Given the description of an element on the screen output the (x, y) to click on. 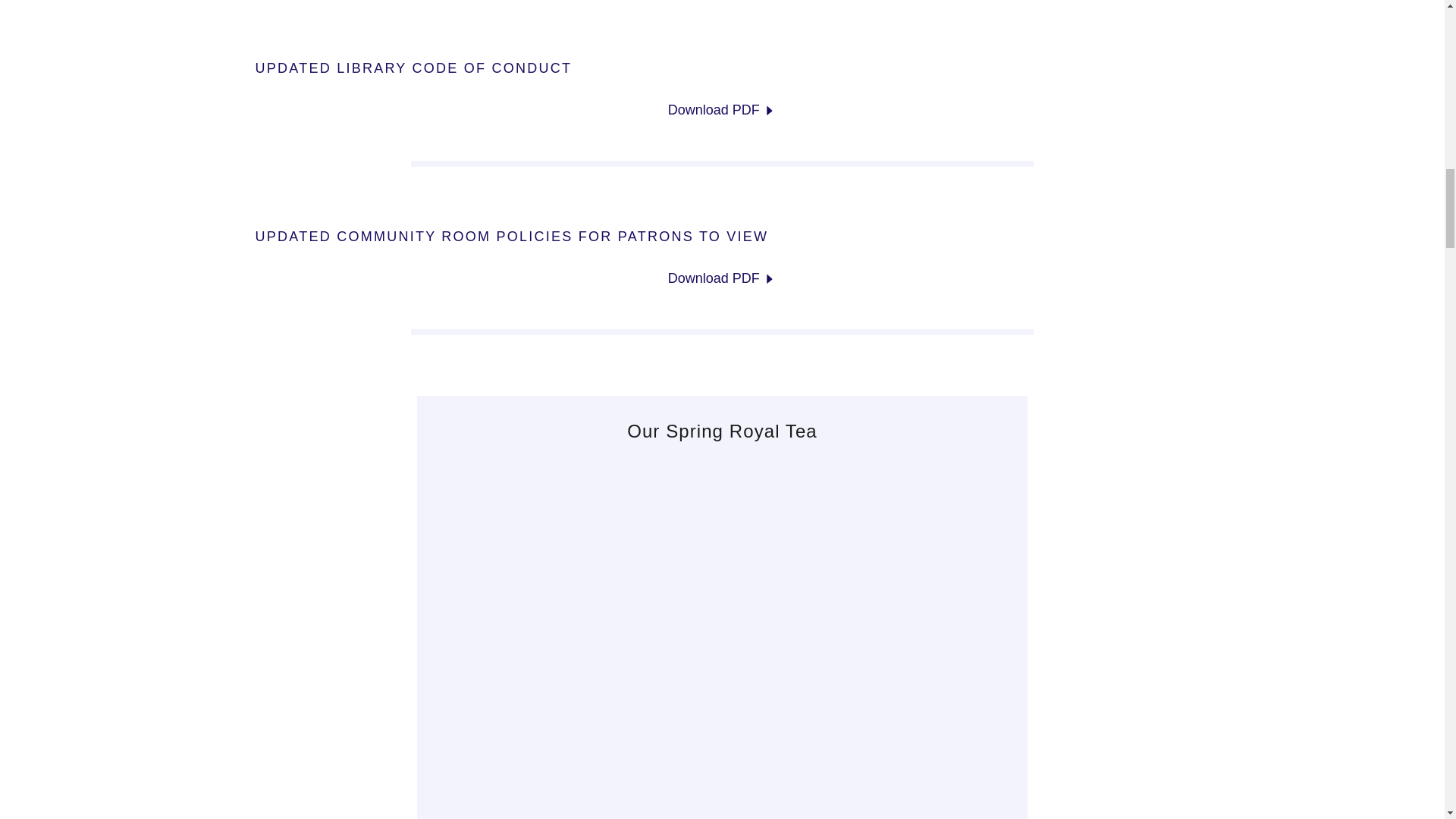
Download PDF (722, 109)
Download PDF (722, 278)
